Given the description of an element on the screen output the (x, y) to click on. 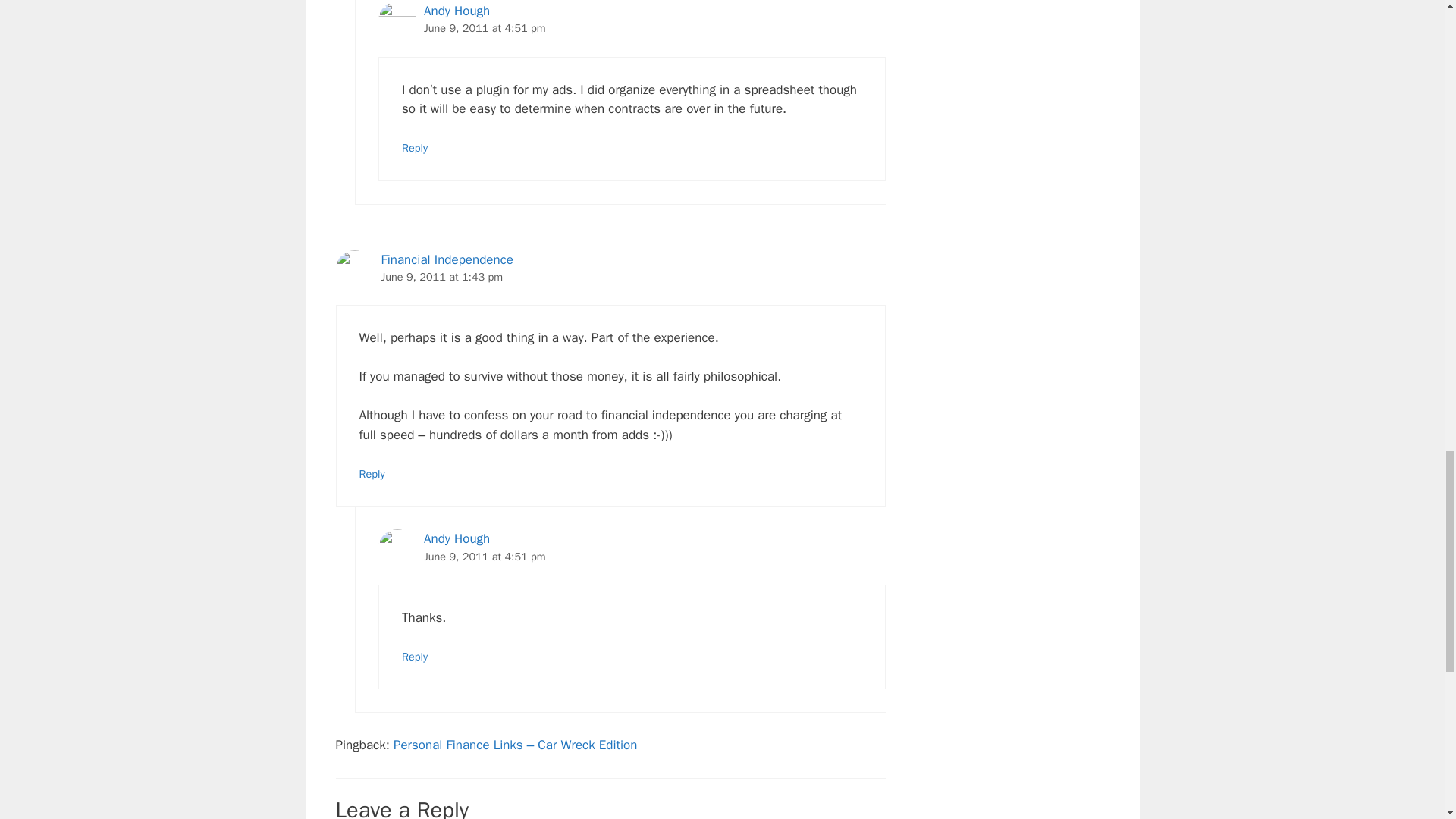
June 9, 2011 at 4:51 pm (484, 556)
June 9, 2011 at 4:51 pm (484, 28)
June 9, 2011 at 1:43 pm (441, 276)
Andy Hough (456, 538)
Andy Hough (456, 10)
Financial Independence (446, 259)
Reply (414, 656)
Reply (414, 147)
Reply (372, 473)
